Given the description of an element on the screen output the (x, y) to click on. 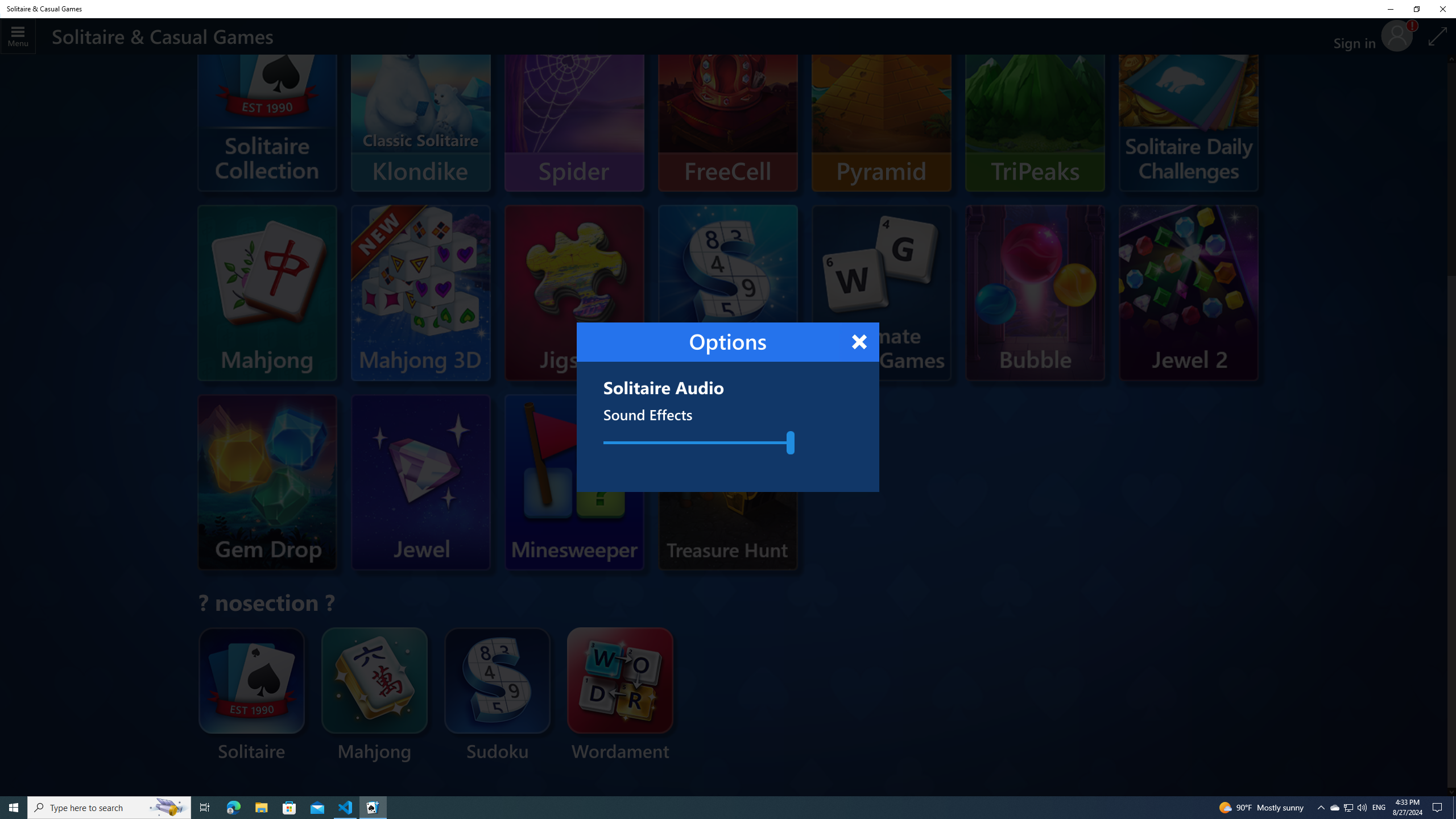
Close Solitaire & Casual Games (1442, 9)
Mahjong 3D (420, 292)
Restore Solitaire & Casual Games (1416, 9)
Mahjong (374, 695)
Microsoft Jewel 2 (1187, 292)
File Explorer (261, 807)
Microsoft Bubble (1035, 292)
Minimize Solitaire & Casual Games (1390, 9)
Sign in (1358, 36)
Microsoft Gem Drop (267, 481)
